Given the description of an element on the screen output the (x, y) to click on. 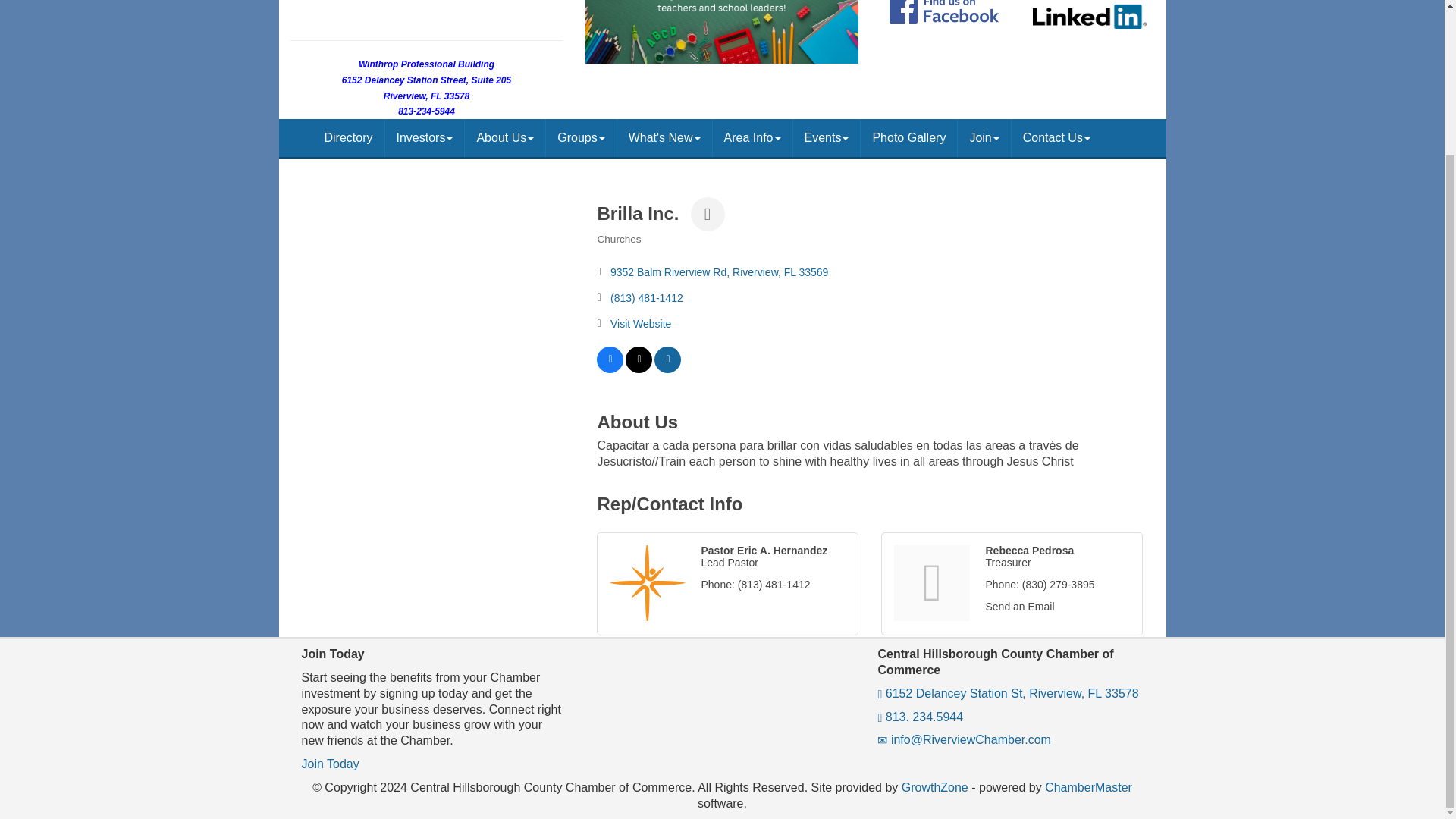
Events (826, 137)
What's New (664, 137)
View on Facebook (609, 369)
Directory (348, 137)
Area Info (752, 137)
Investors (424, 137)
Photo Gallery (908, 137)
Groups (580, 137)
View on You Tube (667, 369)
About Us (504, 137)
Join (984, 137)
View on Twitter (639, 369)
